Given the description of an element on the screen output the (x, y) to click on. 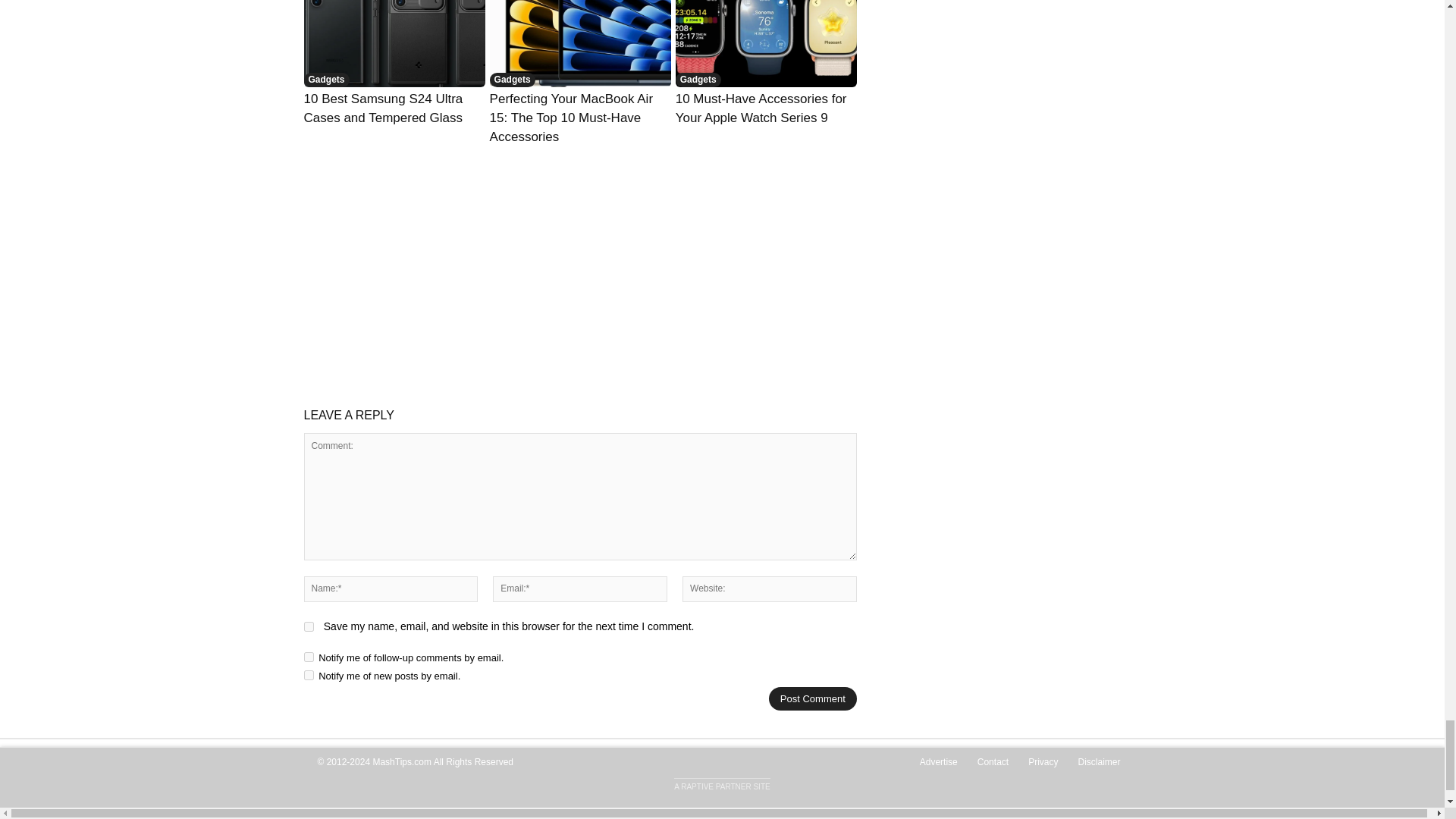
yes (307, 626)
subscribe (307, 675)
Post Comment (812, 698)
subscribe (307, 656)
